Given the description of an element on the screen output the (x, y) to click on. 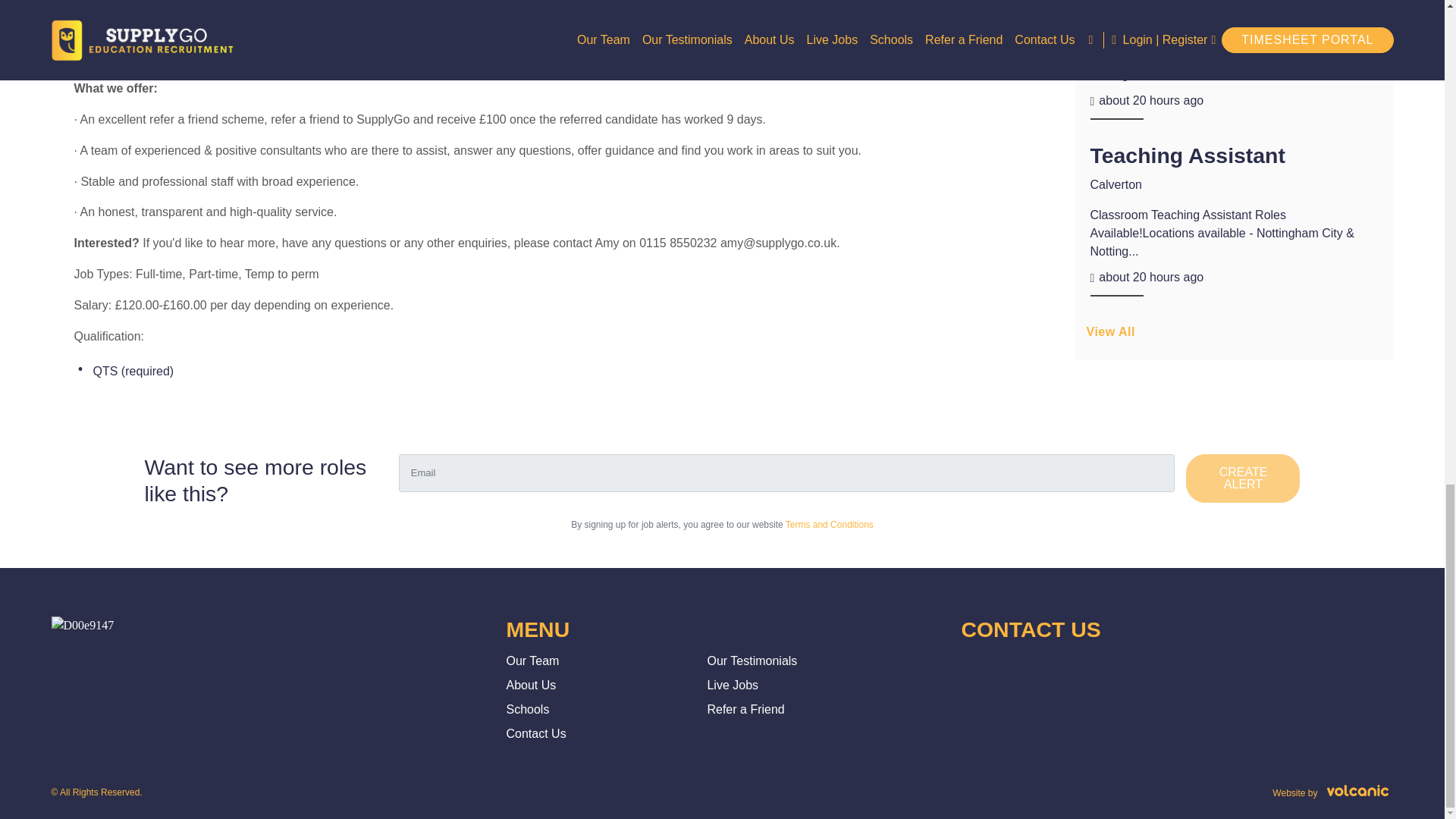
CREATE ALERT (1243, 478)
View All (1234, 337)
Terms and Conditions (829, 524)
